Given the description of an element on the screen output the (x, y) to click on. 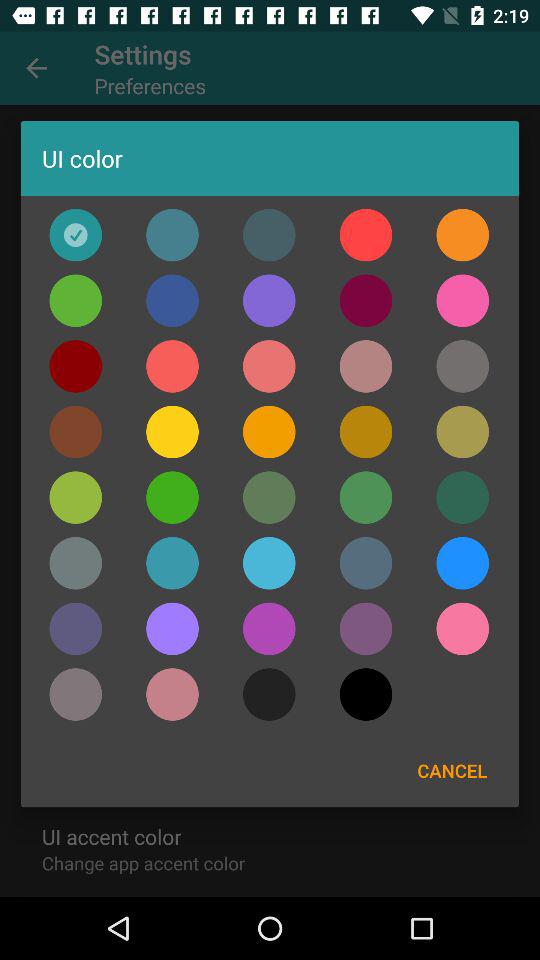
click yellow (172, 431)
